Given the description of an element on the screen output the (x, y) to click on. 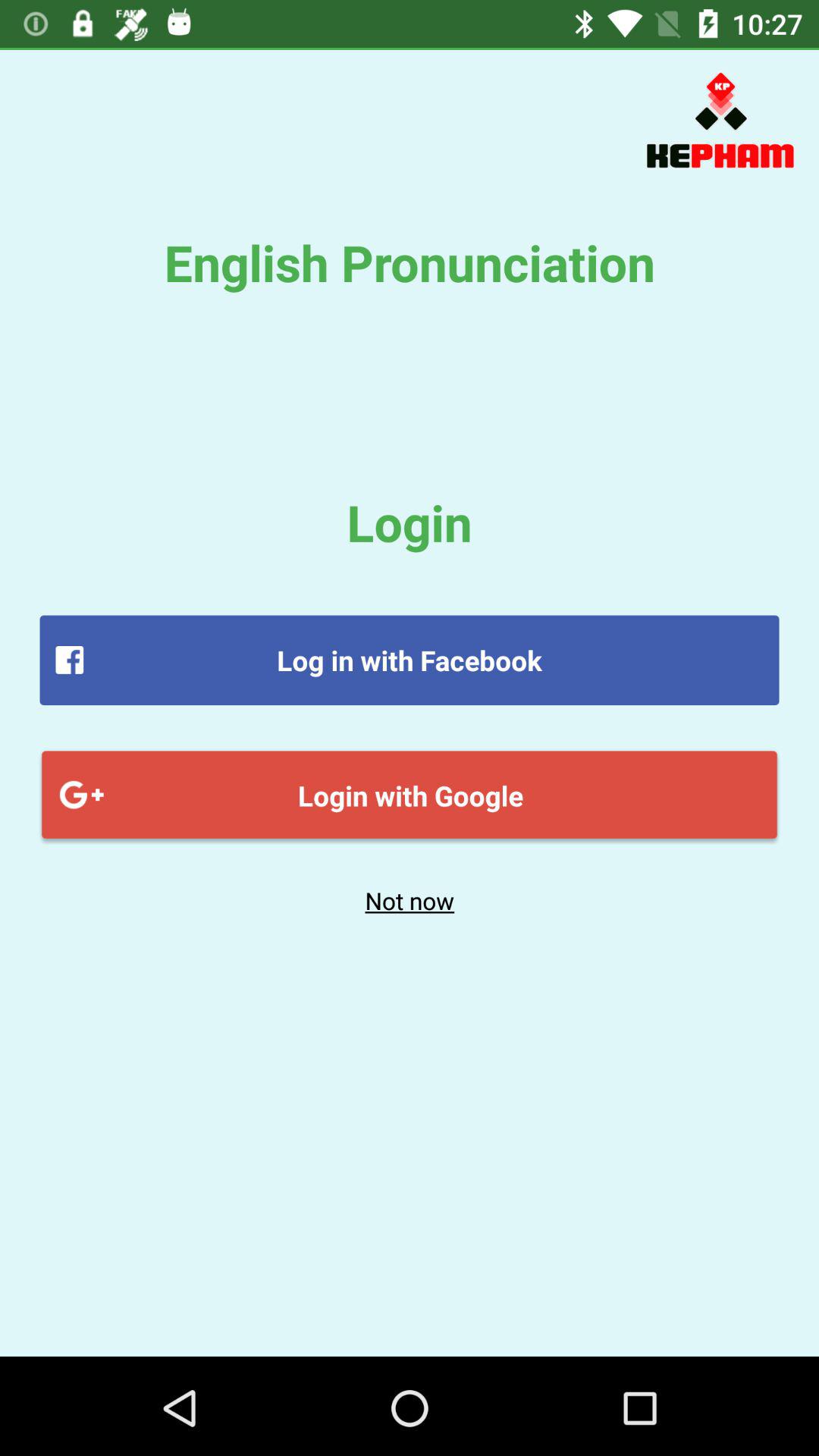
turn on the item below the log in with icon (409, 794)
